Given the description of an element on the screen output the (x, y) to click on. 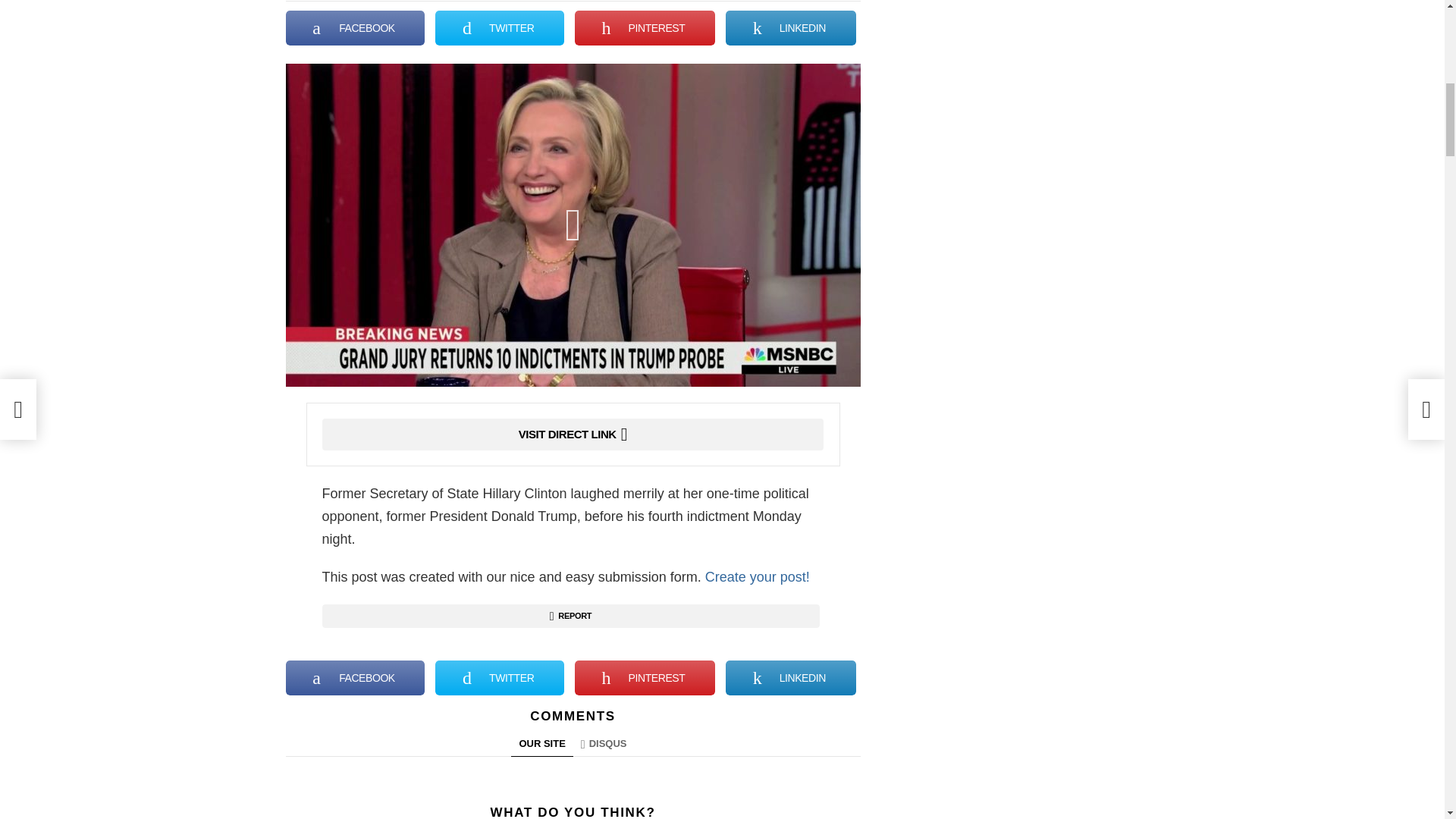
Share on Pinterest (644, 677)
Share on LinkedIn (790, 677)
Share on Twitter (499, 27)
Share on Facebook (355, 27)
Share on LinkedIn (790, 27)
Share on Facebook (355, 677)
Share on Pinterest (644, 27)
Share on Twitter (499, 677)
